Given the description of an element on the screen output the (x, y) to click on. 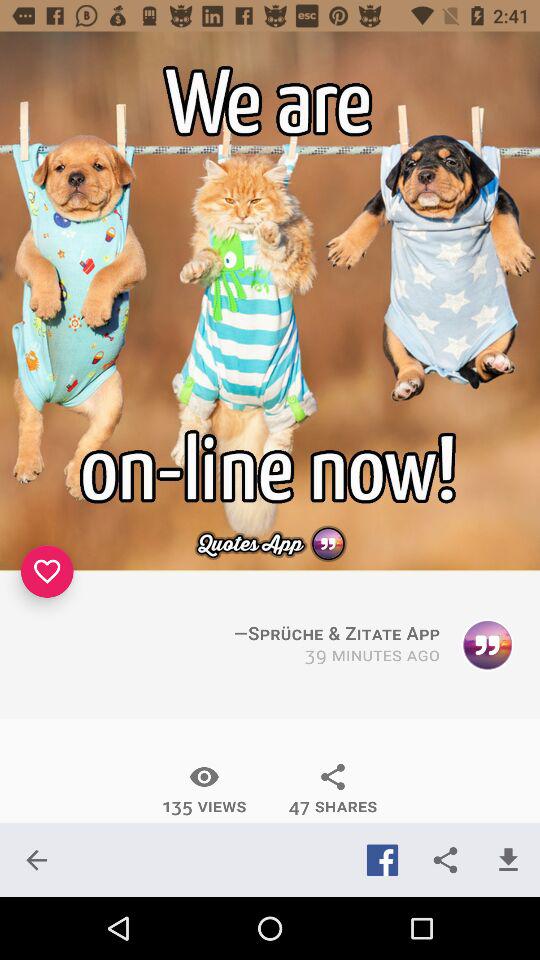
turn on the icon below 47 shares icon (381, 859)
